Given the description of an element on the screen output the (x, y) to click on. 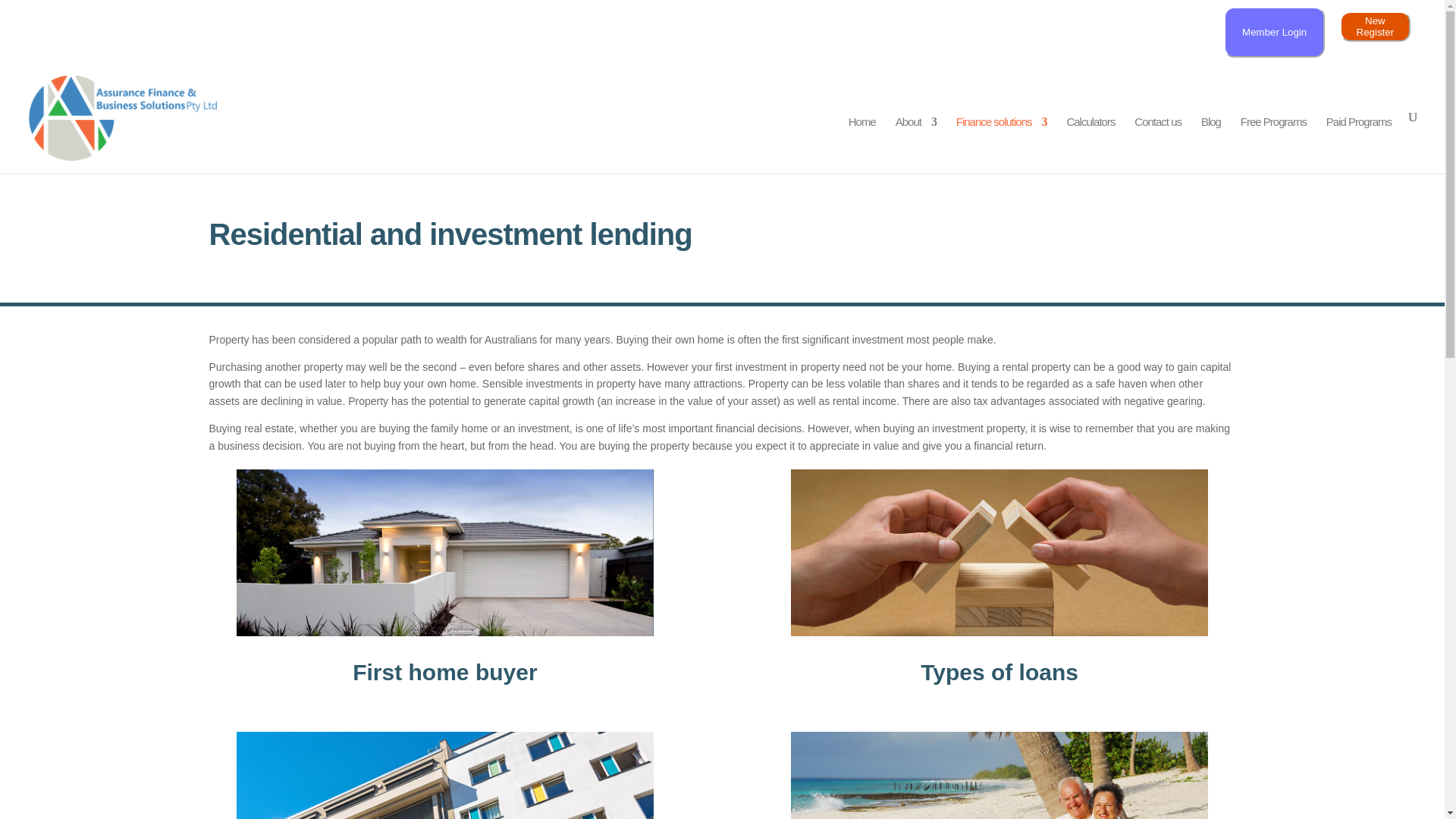
Member Login (1274, 35)
Member Login (1274, 31)
New Register (1374, 26)
Finance solutions (1001, 145)
New Register (1374, 29)
